Given the description of an element on the screen output the (x, y) to click on. 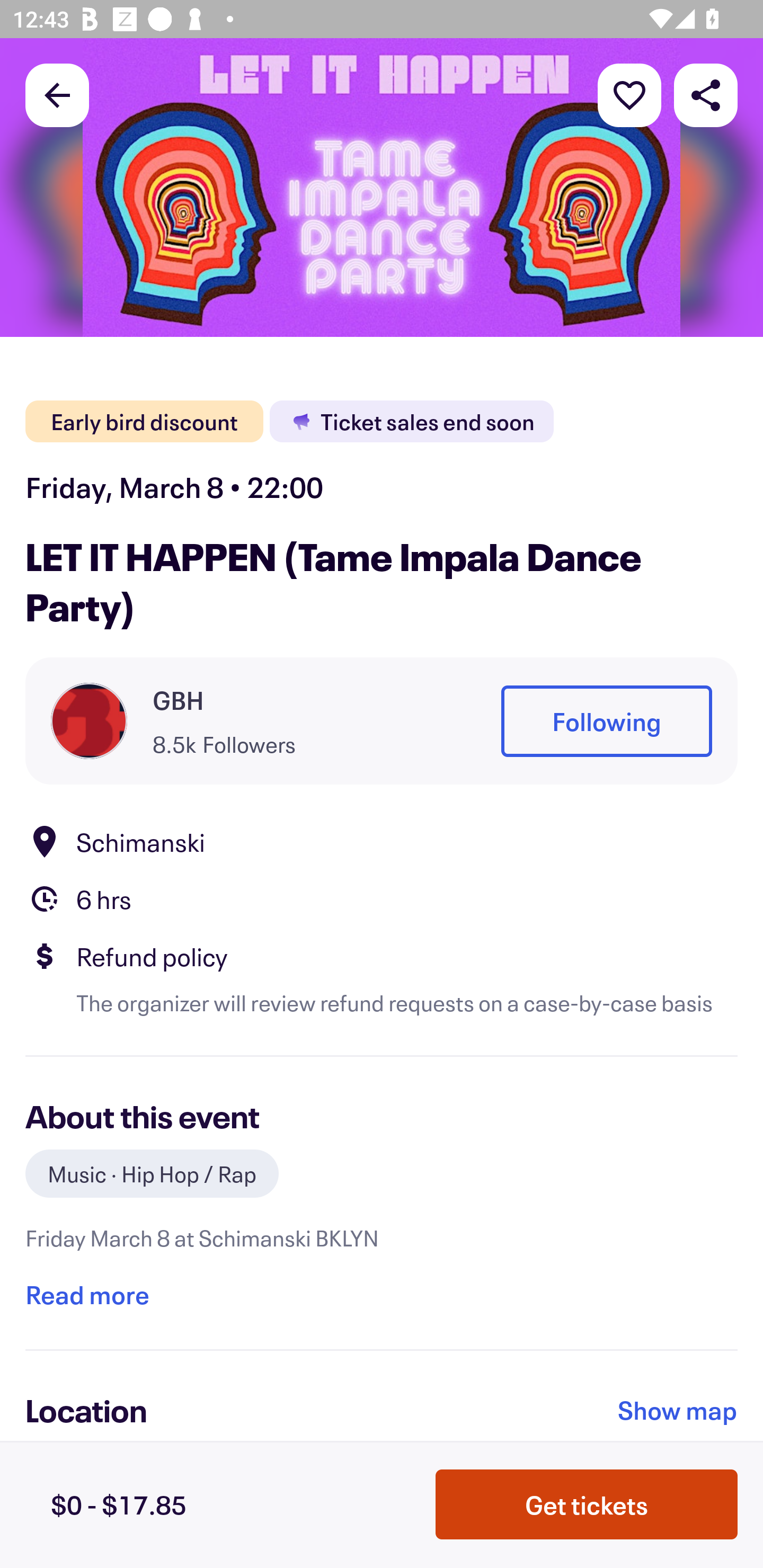
Back (57, 94)
More (629, 94)
Share (705, 94)
Early bird discount (144, 421)
GBH (178, 699)
Organizer profile picture (89, 720)
Following (606, 720)
Location Schimanski (381, 840)
Read more (87, 1293)
Show map (677, 1410)
Get tickets (586, 1504)
